Given the description of an element on the screen output the (x, y) to click on. 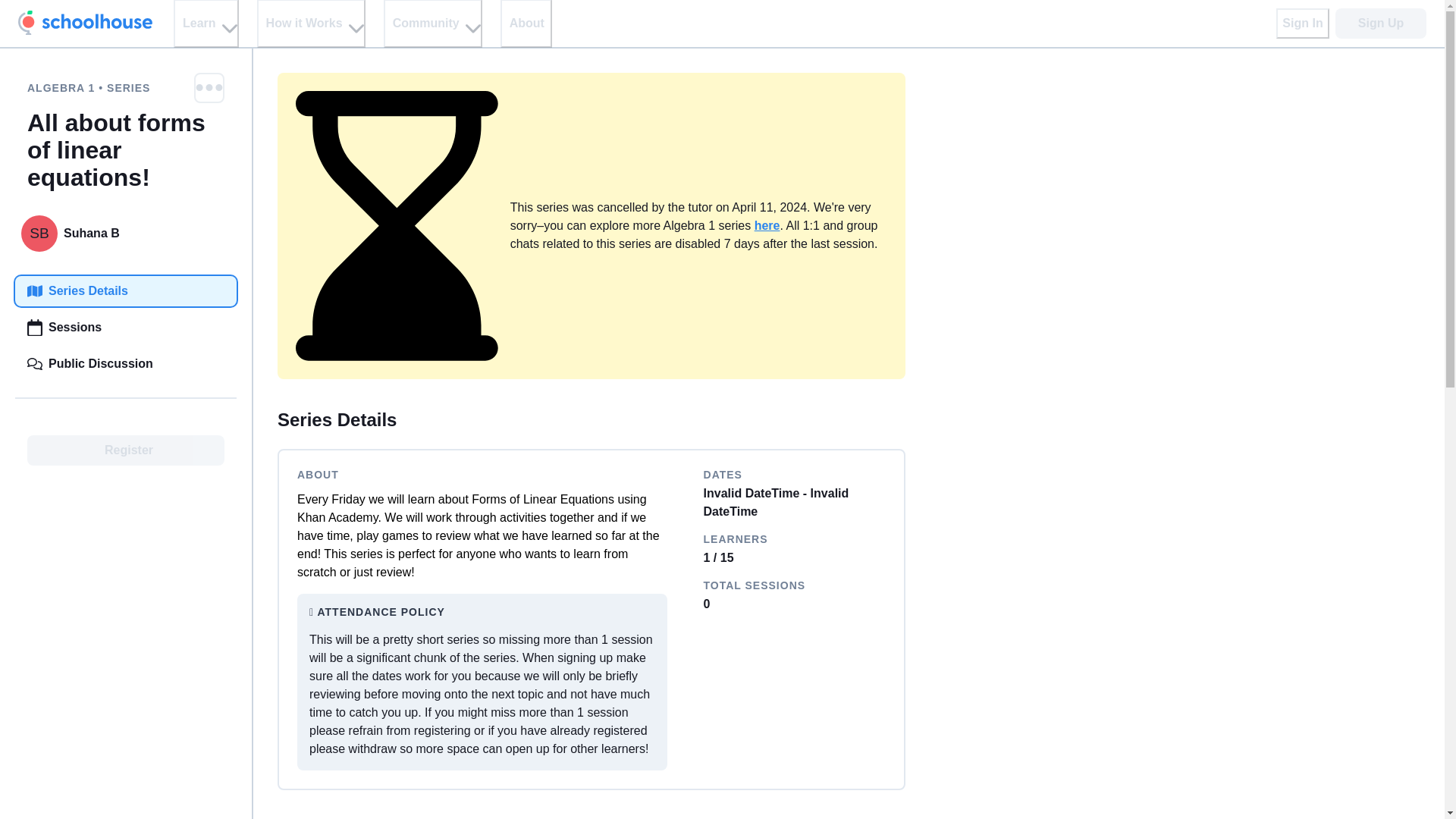
Learn (205, 23)
Learn (205, 23)
How it Works (311, 23)
Schoolhouse.world: peer tutoring, for free. (84, 22)
Schoolhouse.world: peer tutoring, for free. (84, 23)
About (526, 23)
Community (432, 23)
About (525, 23)
Sign In (1302, 23)
